Given the description of an element on the screen output the (x, y) to click on. 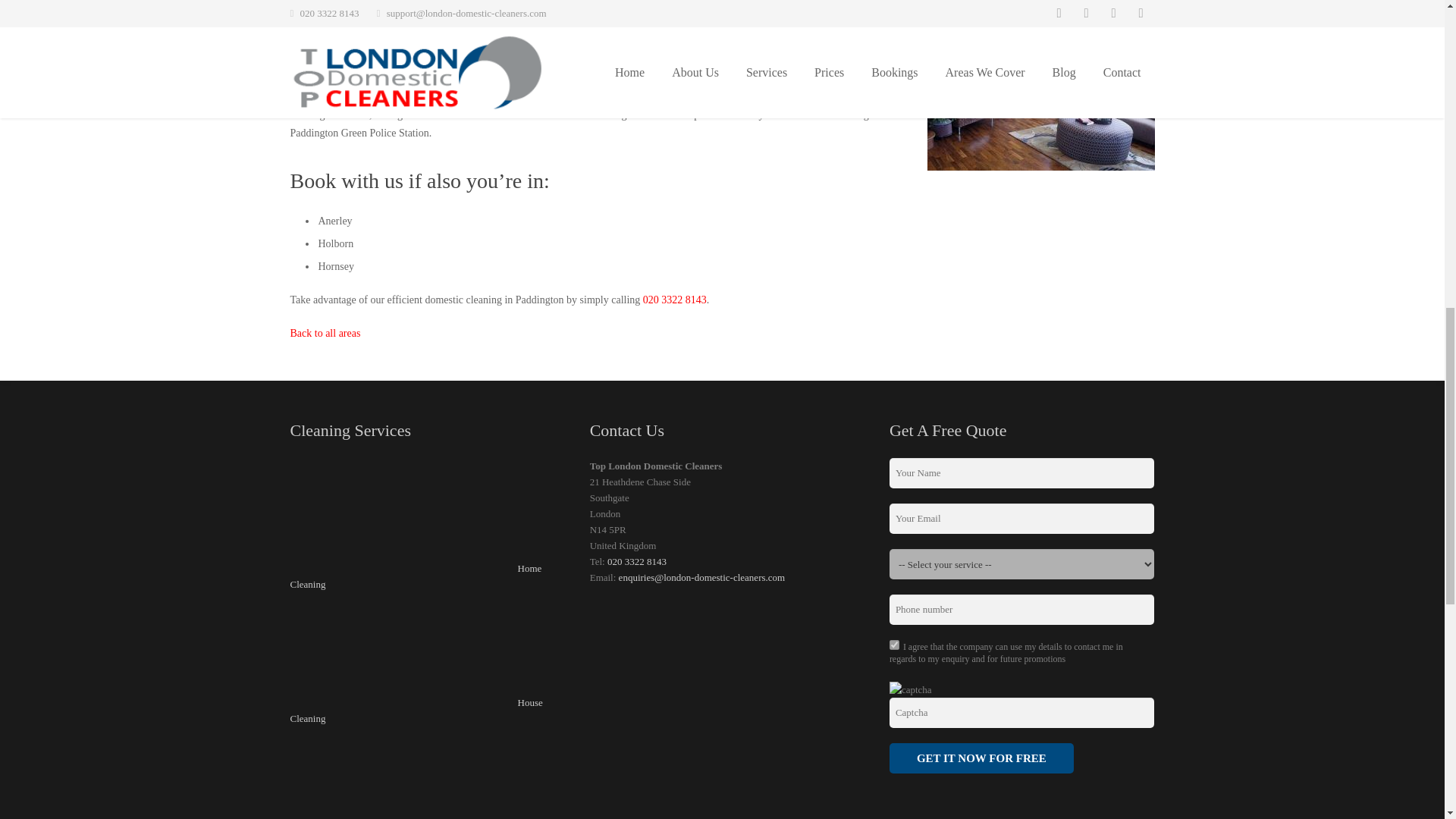
Get It Now For Free (981, 757)
020 3322 8143 (674, 299)
Home Cleaning (415, 575)
020 3322 8143 (636, 561)
House Cleaning (415, 709)
Get It Now For Free (981, 757)
Back to all areas (324, 333)
1 (894, 644)
